Given the description of an element on the screen output the (x, y) to click on. 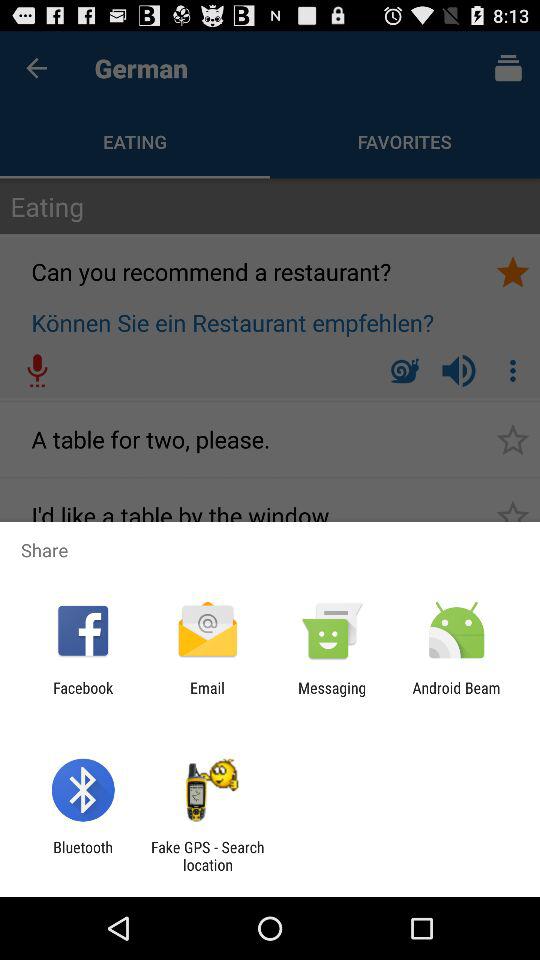
open icon at the bottom right corner (456, 696)
